Given the description of an element on the screen output the (x, y) to click on. 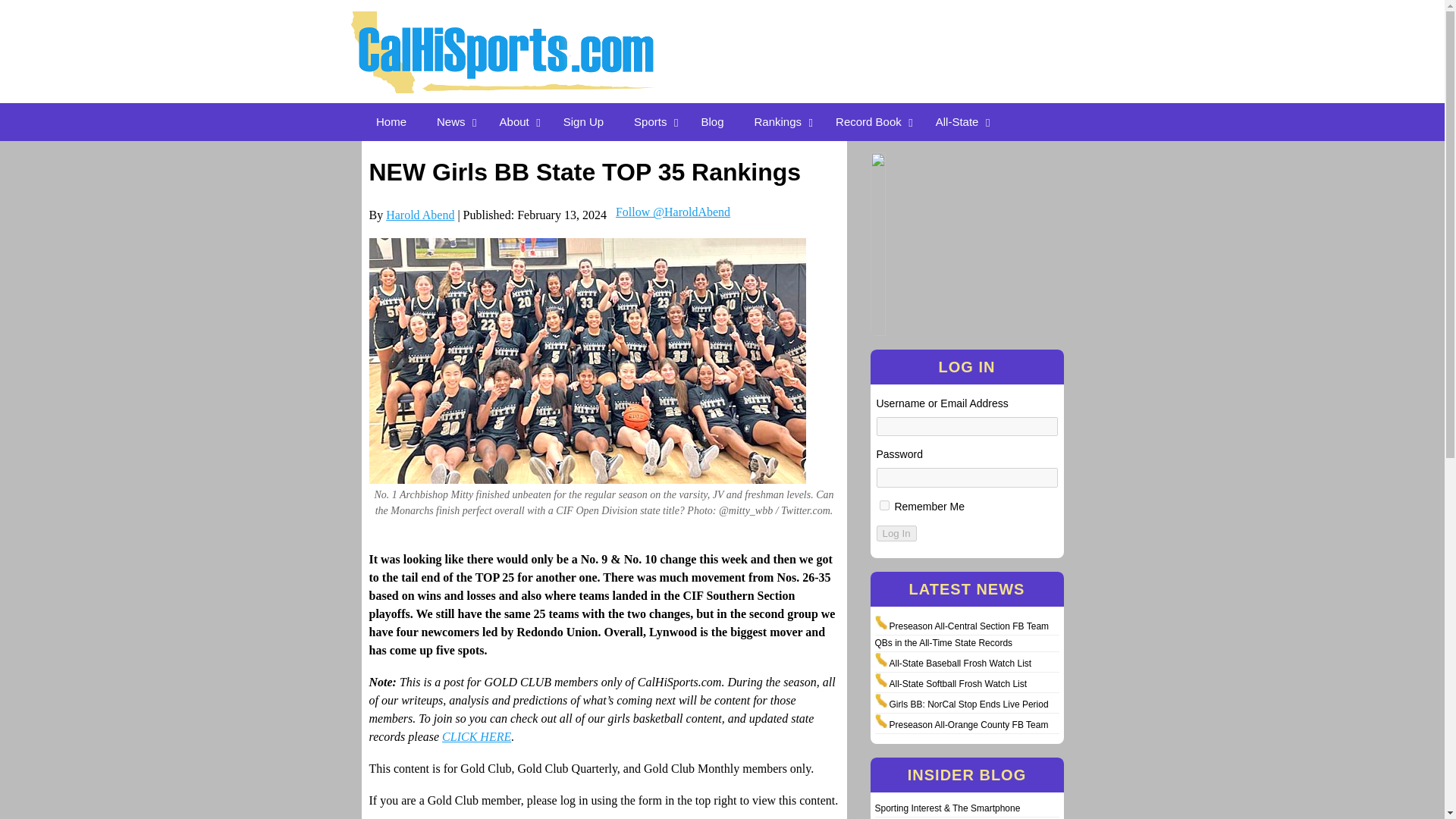
Sports (651, 121)
Permalink to Girls BB: NorCal Stop Ends Live Period (968, 704)
Permalink to All-State Softball Frosh Watch List (957, 683)
Permalink to All-State Baseball Frosh Watch List (959, 663)
Permalink to QBs in the All-Time State Records (944, 643)
View all posts by Harold Abend (419, 214)
Permalink to Preseason All-Orange County FB Team (968, 724)
Rankings (779, 121)
Record Book (870, 121)
Sign Up (583, 121)
